Given the description of an element on the screen output the (x, y) to click on. 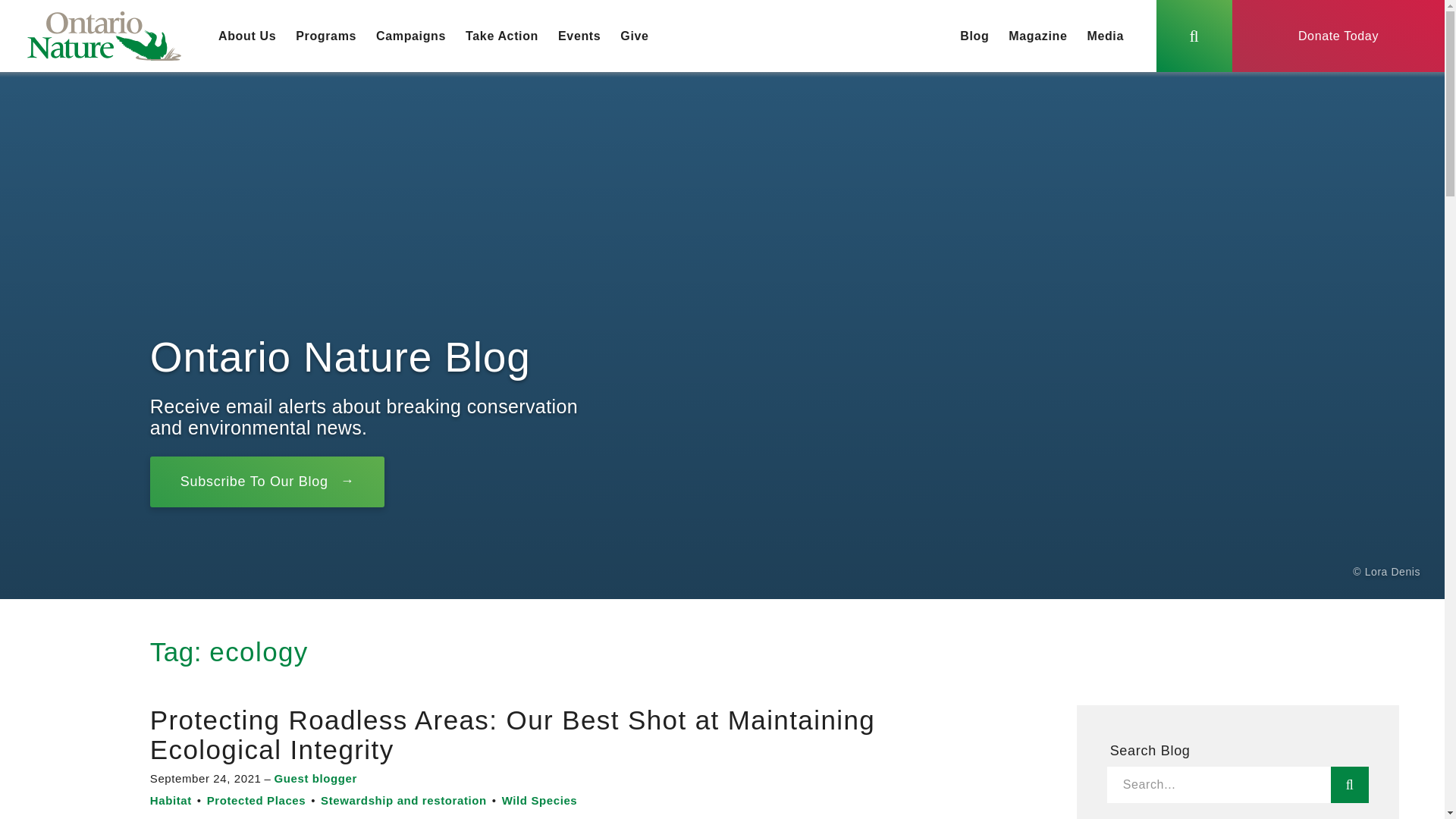
Enter search term (1218, 784)
About Us (246, 36)
Authored by: Guest blogger (315, 778)
Category: Habitat (170, 799)
Search blog posts (1349, 784)
Category: Wild Species (540, 799)
Home (104, 35)
Programs (325, 36)
Category: Stewardship and restoration (403, 799)
Signup to receive blog update notifications (267, 481)
Category: Protected Places (255, 799)
